Given the description of an element on the screen output the (x, y) to click on. 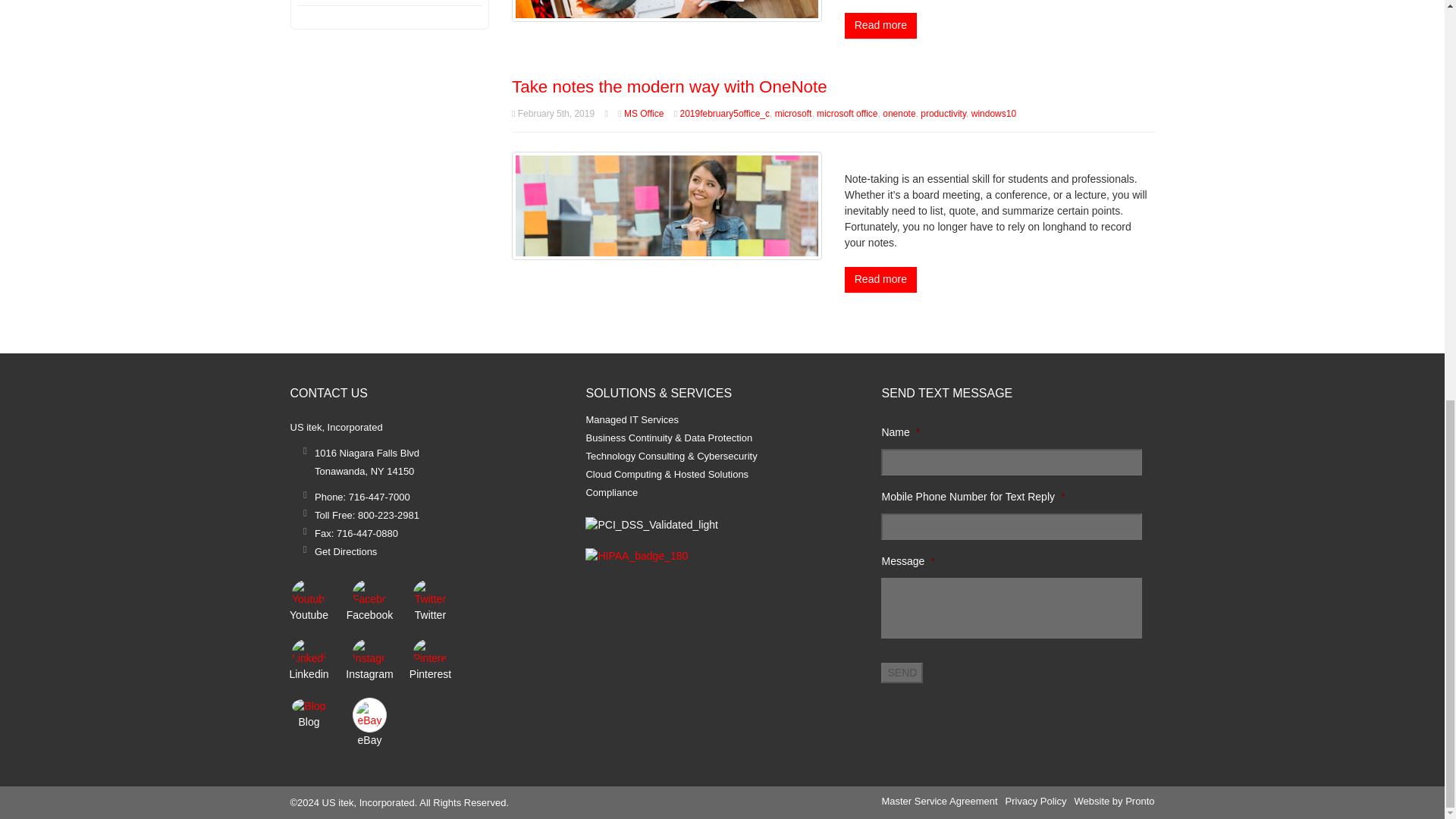
Take notes the modern way with OneNote (667, 204)
Take notes the modern way with OneNote (669, 86)
SEND (901, 672)
